Given the description of an element on the screen output the (x, y) to click on. 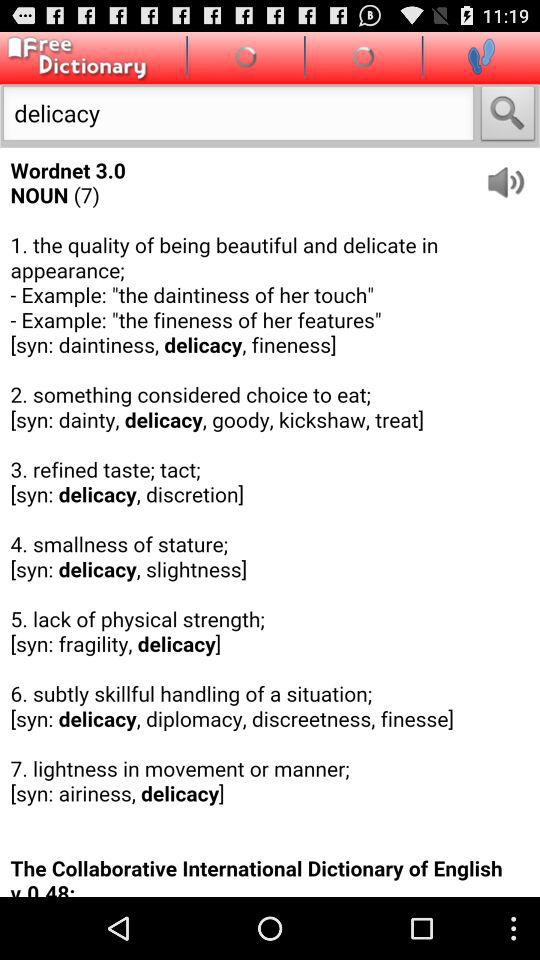
toggle option (481, 56)
